Given the description of an element on the screen output the (x, y) to click on. 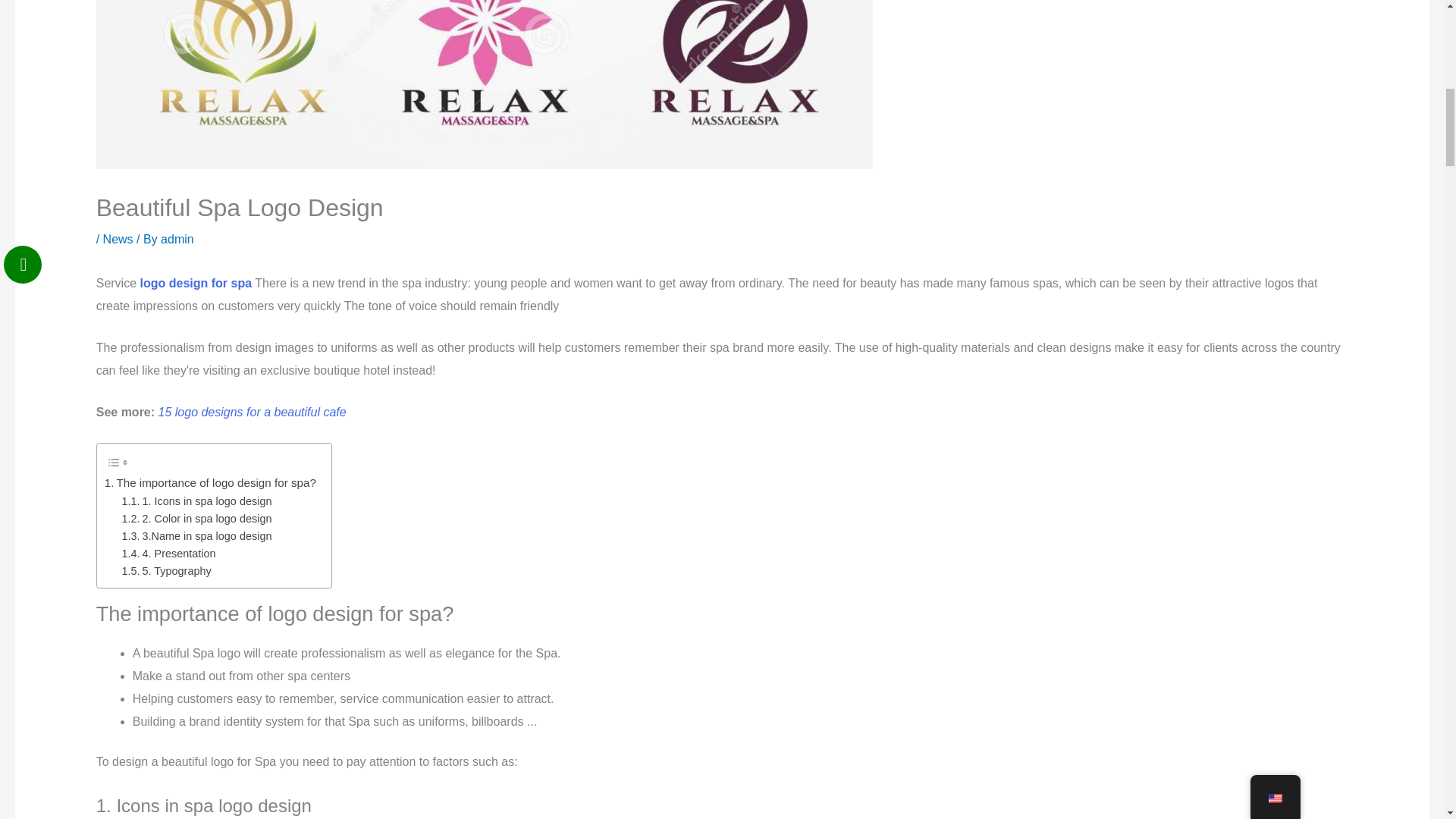
News (118, 238)
View all posts by admin (176, 238)
5. Typography (166, 570)
2. Color in spa logo design (197, 518)
Beautiful logo design for spa (195, 282)
3.Name in spa logo design (197, 536)
1. Icons in spa logo design (197, 501)
admin (176, 238)
15 logo designs for a beautiful cafe (252, 411)
4. Presentation (168, 553)
